Given the description of an element on the screen output the (x, y) to click on. 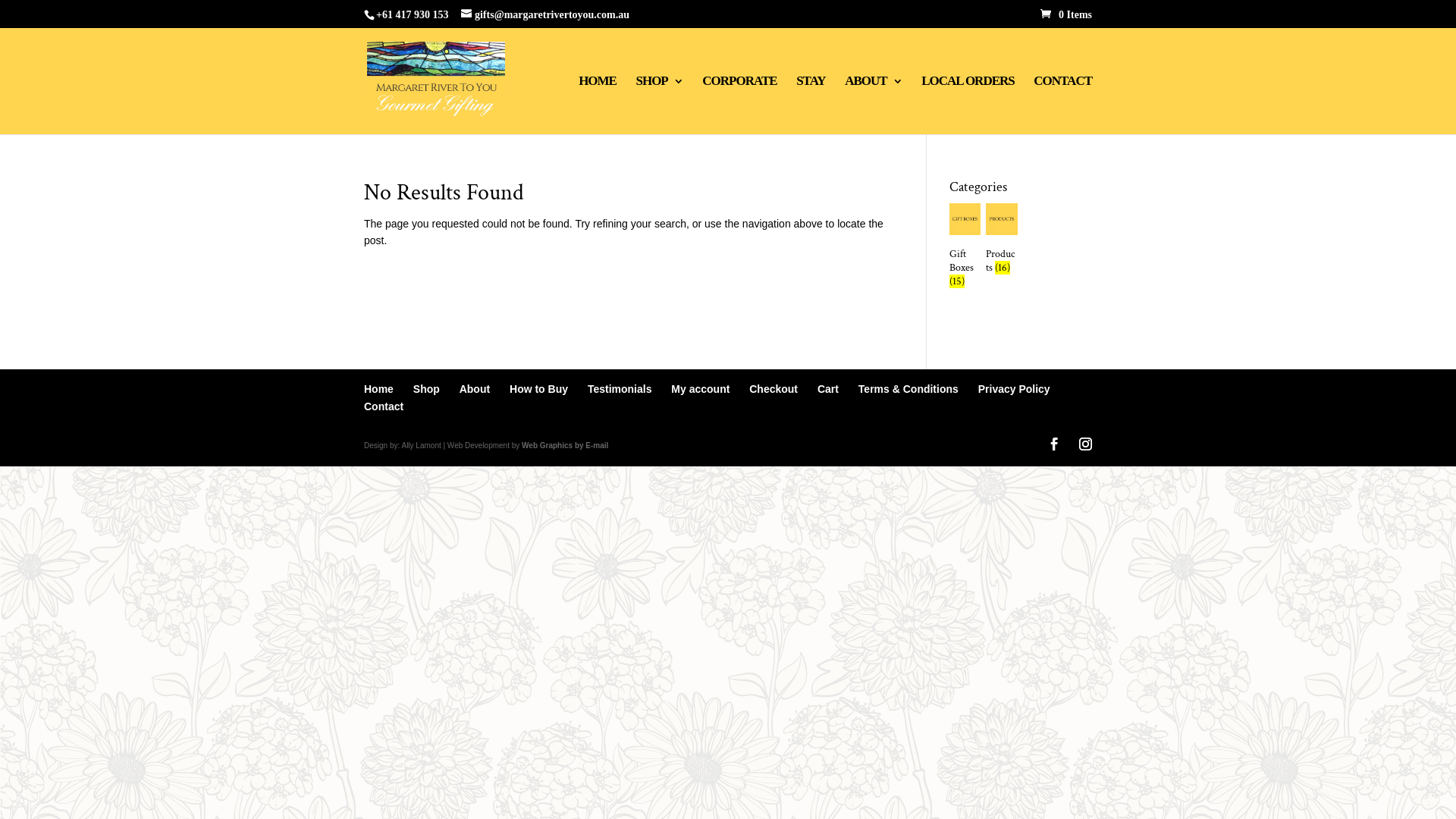
+61 417 930 153 Element type: text (412, 14)
Terms & Conditions Element type: text (908, 388)
ABOUT Element type: text (872, 104)
Privacy Policy Element type: text (1014, 388)
Gift Boxes (15) Element type: text (965, 248)
SHOP Element type: text (658, 104)
Web Graphics by E-mail Element type: text (564, 445)
My account Element type: text (700, 388)
Products (16) Element type: text (1001, 241)
Checkout Element type: text (773, 388)
About Element type: text (474, 388)
Shop Element type: text (426, 388)
HOME Element type: text (597, 104)
Testimonials Element type: text (619, 388)
LOCAL ORDERS Element type: text (967, 104)
How to Buy Element type: text (538, 388)
0 Items Element type: text (1066, 14)
CONTACT Element type: text (1062, 104)
Contact Element type: text (383, 406)
gifts@margaretrivertoyou.com.au Element type: text (545, 14)
CORPORATE Element type: text (739, 104)
Cart Element type: text (827, 388)
Home Element type: text (378, 388)
STAY Element type: text (810, 104)
